Given the description of an element on the screen output the (x, y) to click on. 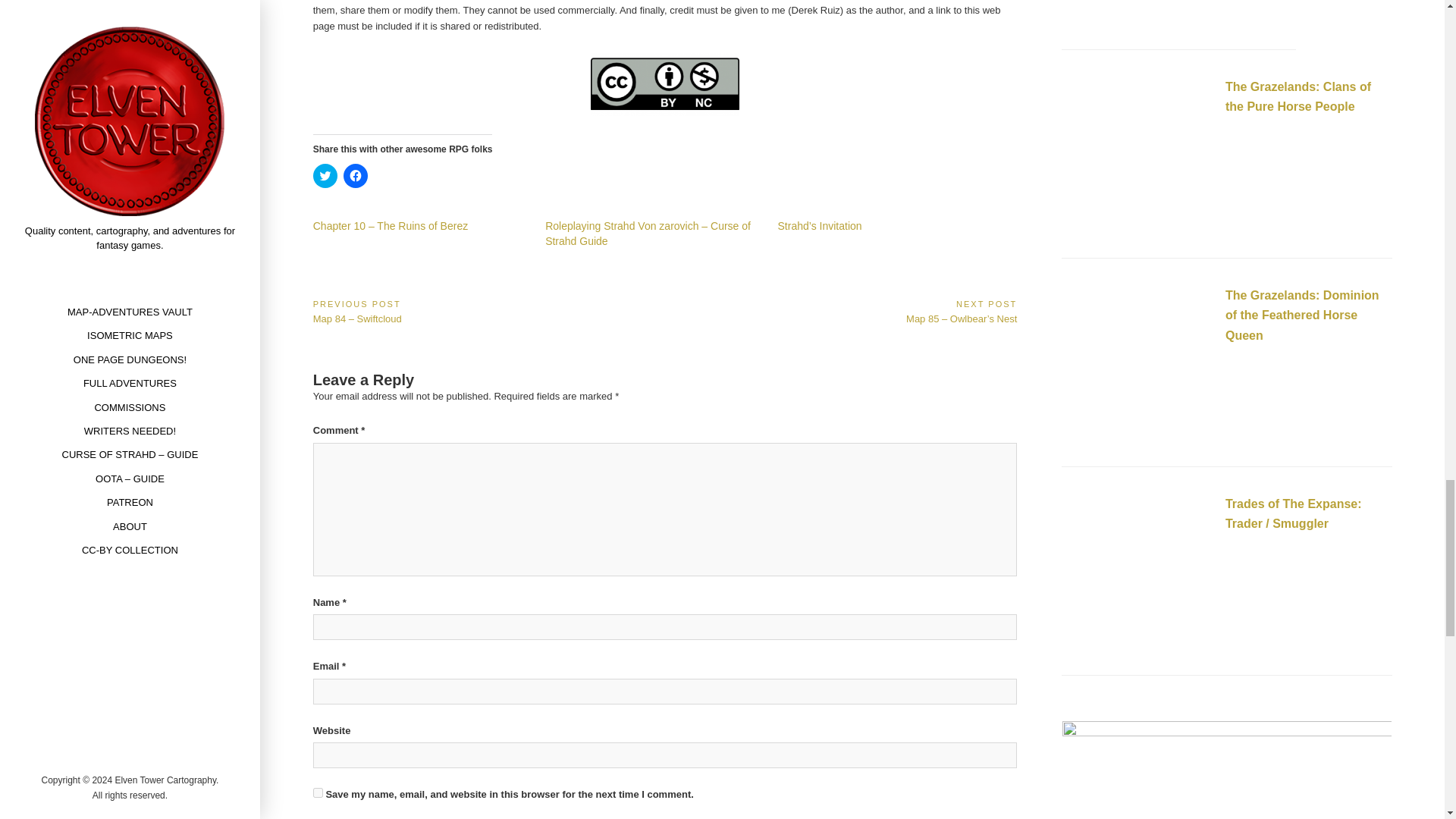
Click to share on Twitter (325, 175)
Click to share on Facebook (355, 175)
yes (318, 792)
